Given the description of an element on the screen output the (x, y) to click on. 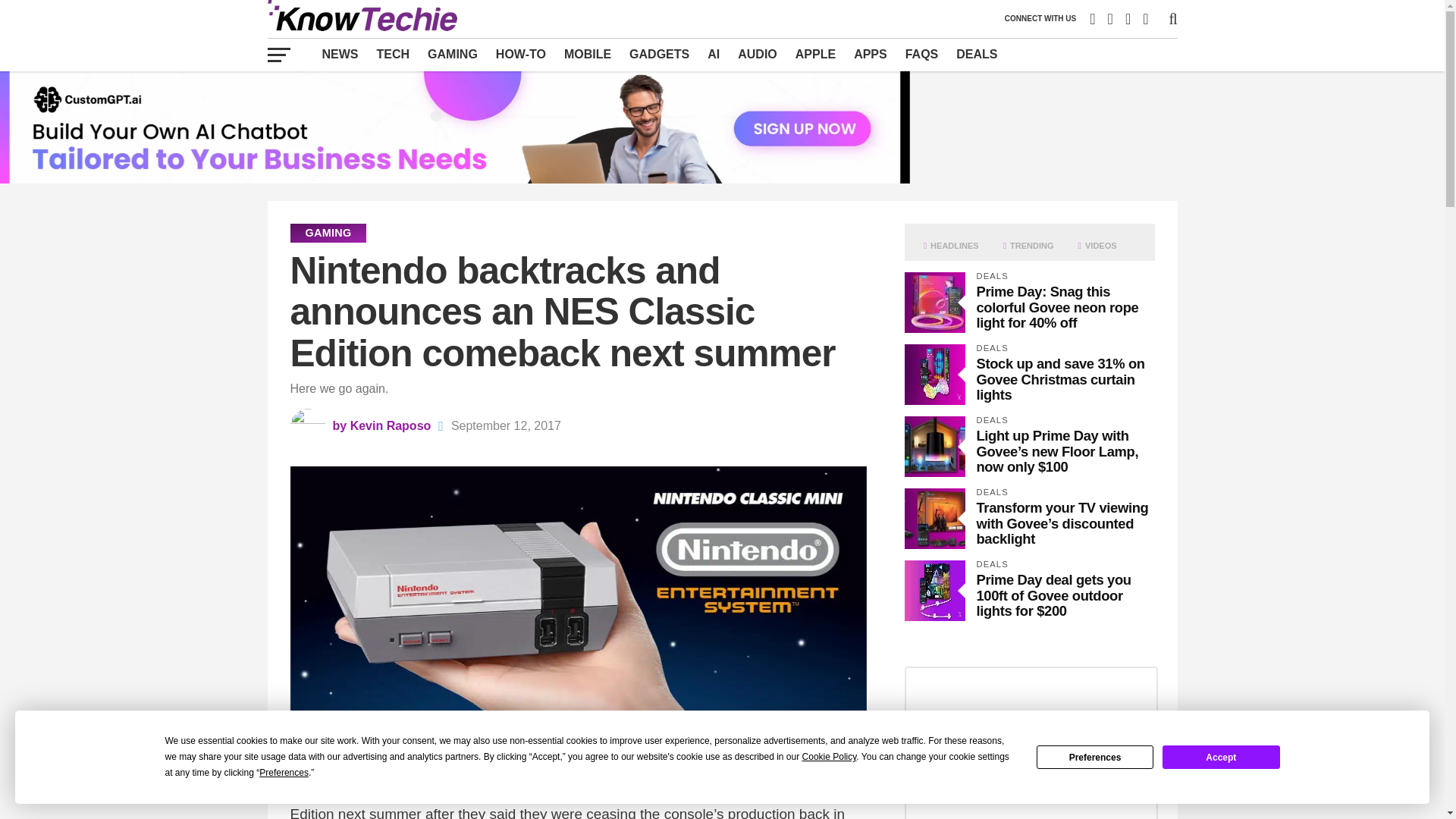
AI (713, 54)
Preferences (1094, 757)
Posts by Kevin Raposo (390, 425)
DEALS (976, 54)
Accept (1220, 757)
APPS (870, 54)
AUDIO (757, 54)
HOW-TO (520, 54)
NEWS (339, 54)
APPLE (815, 54)
MOBILE (587, 54)
GADGETS (659, 54)
GAMING (452, 54)
FAQS (921, 54)
TECH (392, 54)
